Given the description of an element on the screen output the (x, y) to click on. 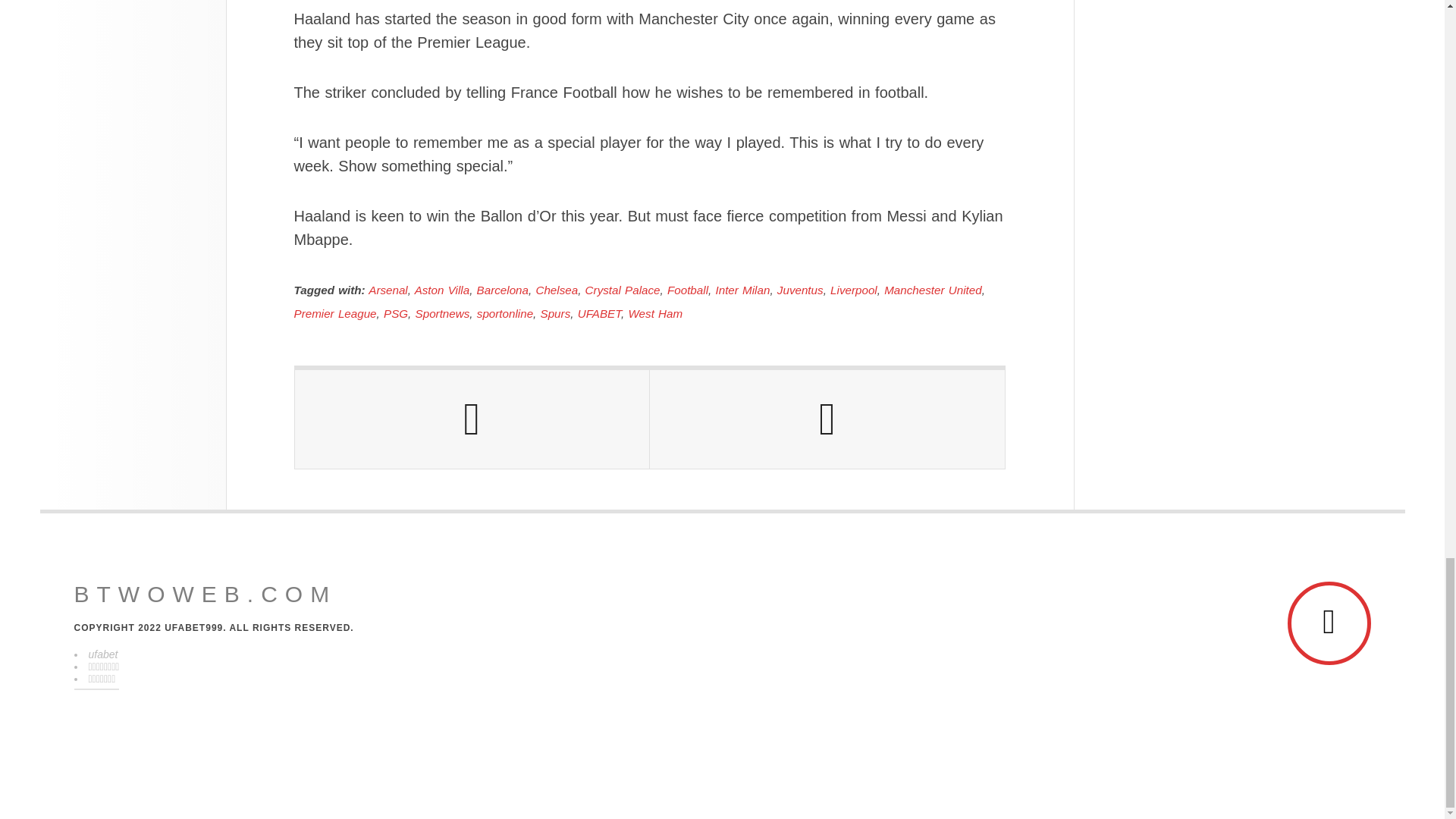
Arsenal (387, 289)
Crystal Palace (623, 289)
btwoweb.com (205, 594)
Barcelona (502, 289)
Juventus (800, 289)
Spurs (555, 313)
UFABET (599, 313)
Football (686, 289)
Inter Milan (742, 289)
Next Post (826, 419)
Chelsea (556, 289)
Liverpool (853, 289)
Premier League (335, 313)
Aston Villa (441, 289)
Manchester United (932, 289)
